Given the description of an element on the screen output the (x, y) to click on. 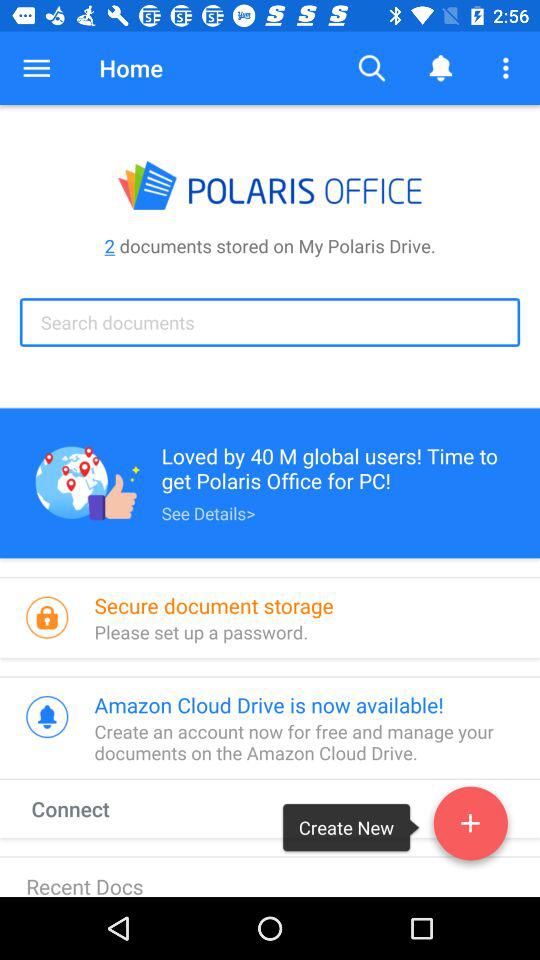
turn on icon at the bottom right corner (470, 827)
